Given the description of an element on the screen output the (x, y) to click on. 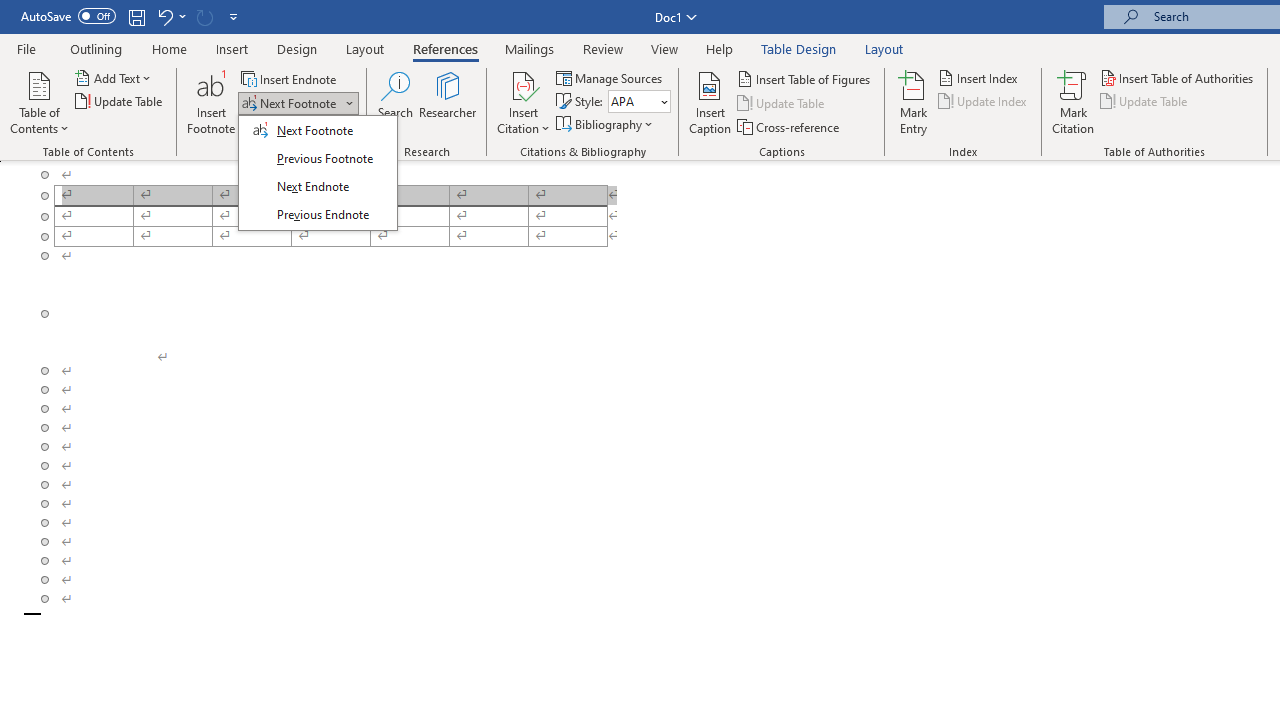
Insert Endnote (290, 78)
Manage Sources... (610, 78)
